Given the description of an element on the screen output the (x, y) to click on. 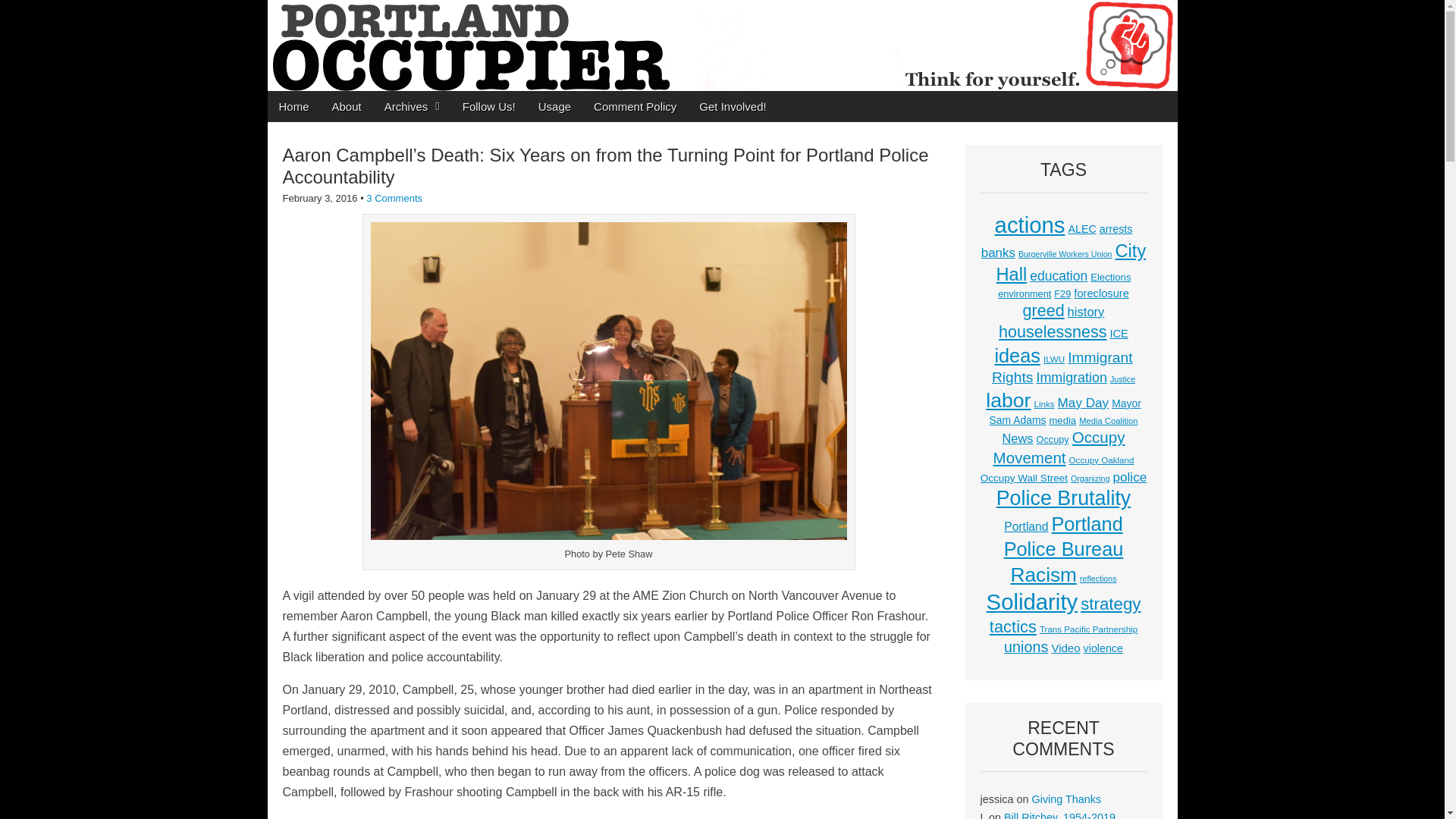
City Hall (1071, 262)
Portland Occupier (415, 40)
Portland Occupier (721, 45)
Follow Us! (489, 106)
Usage (554, 106)
education (1058, 275)
Comment Policy (634, 106)
arrests (1115, 228)
Get Involved! (732, 106)
Burgerville Workers Union (1064, 253)
3 Comments (394, 197)
About (346, 106)
actions (1029, 224)
Home (293, 106)
